Given the description of an element on the screen output the (x, y) to click on. 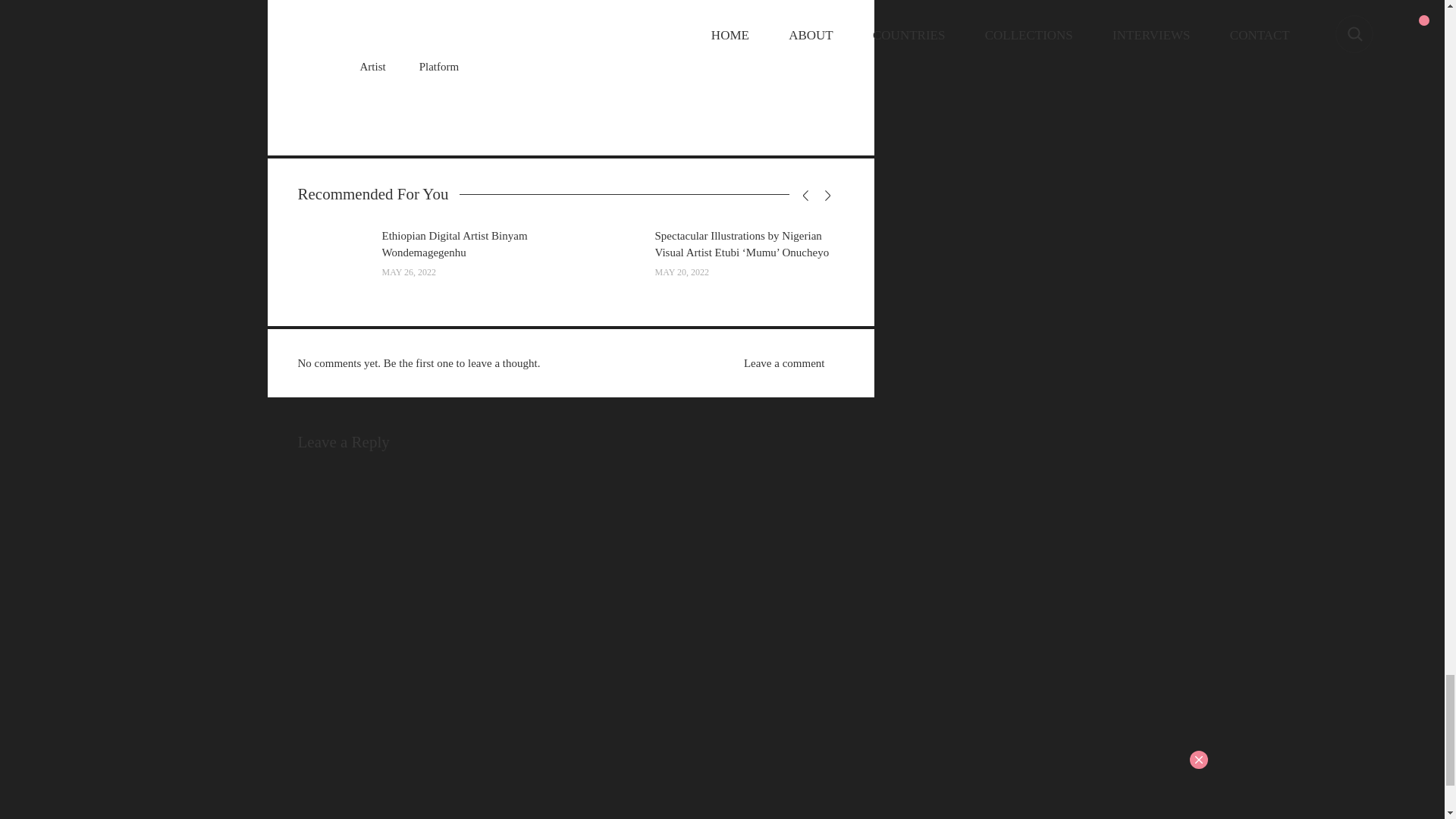
Leave a comment (782, 362)
